Given the description of an element on the screen output the (x, y) to click on. 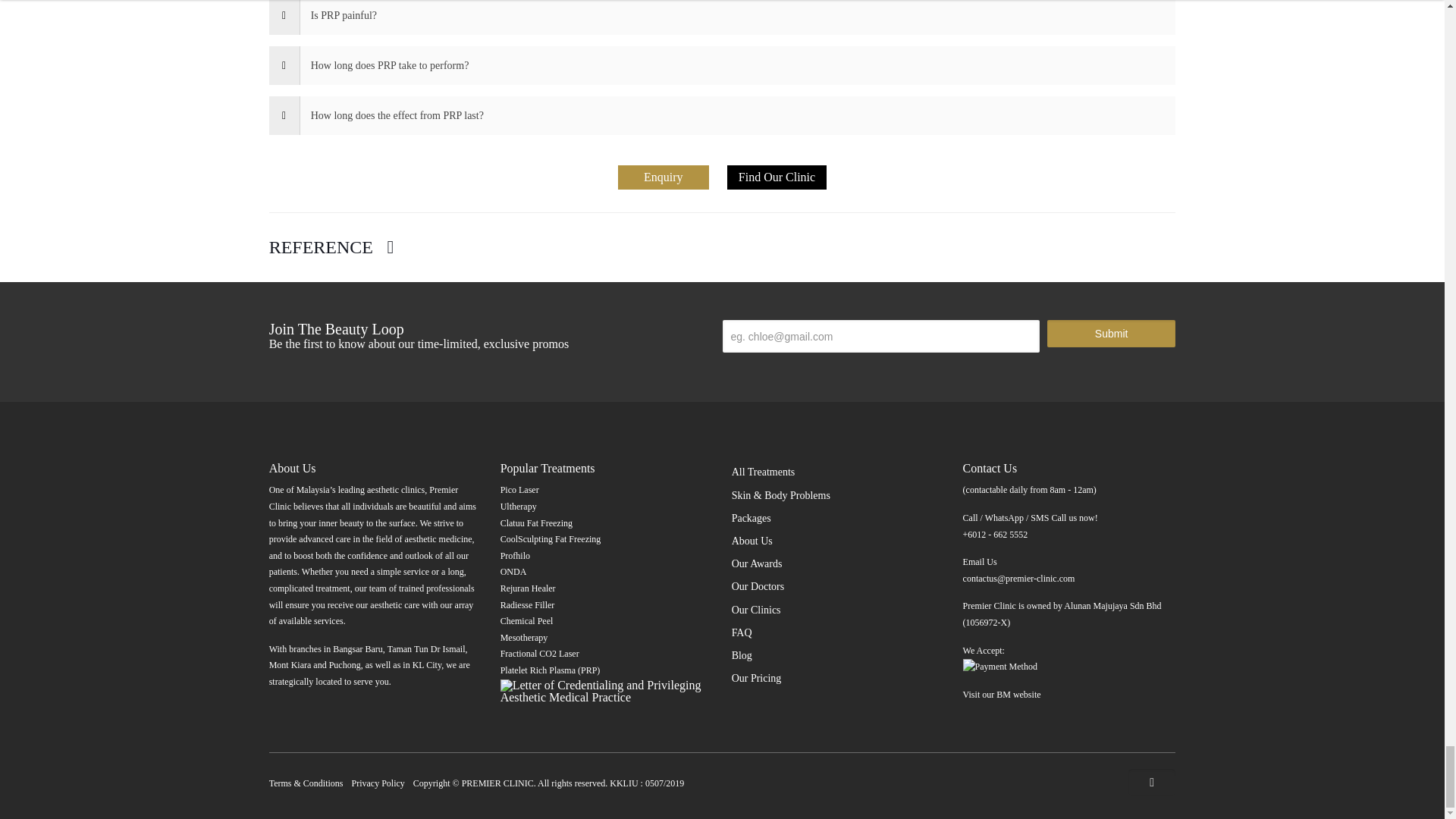
Submit (1110, 333)
